Given the description of an element on the screen output the (x, y) to click on. 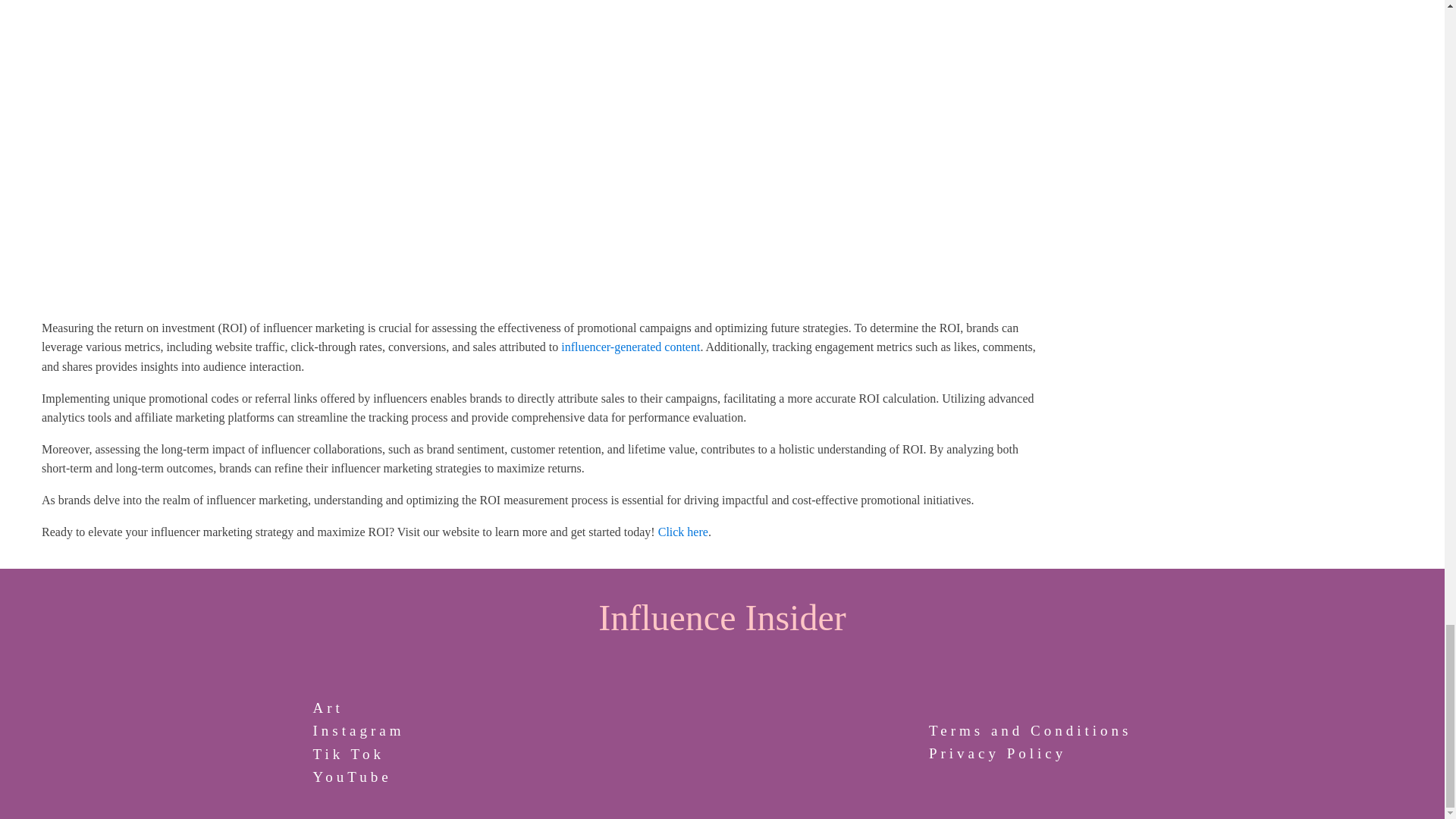
Click here (682, 530)
influencer-generated content (630, 346)
